Given the description of an element on the screen output the (x, y) to click on. 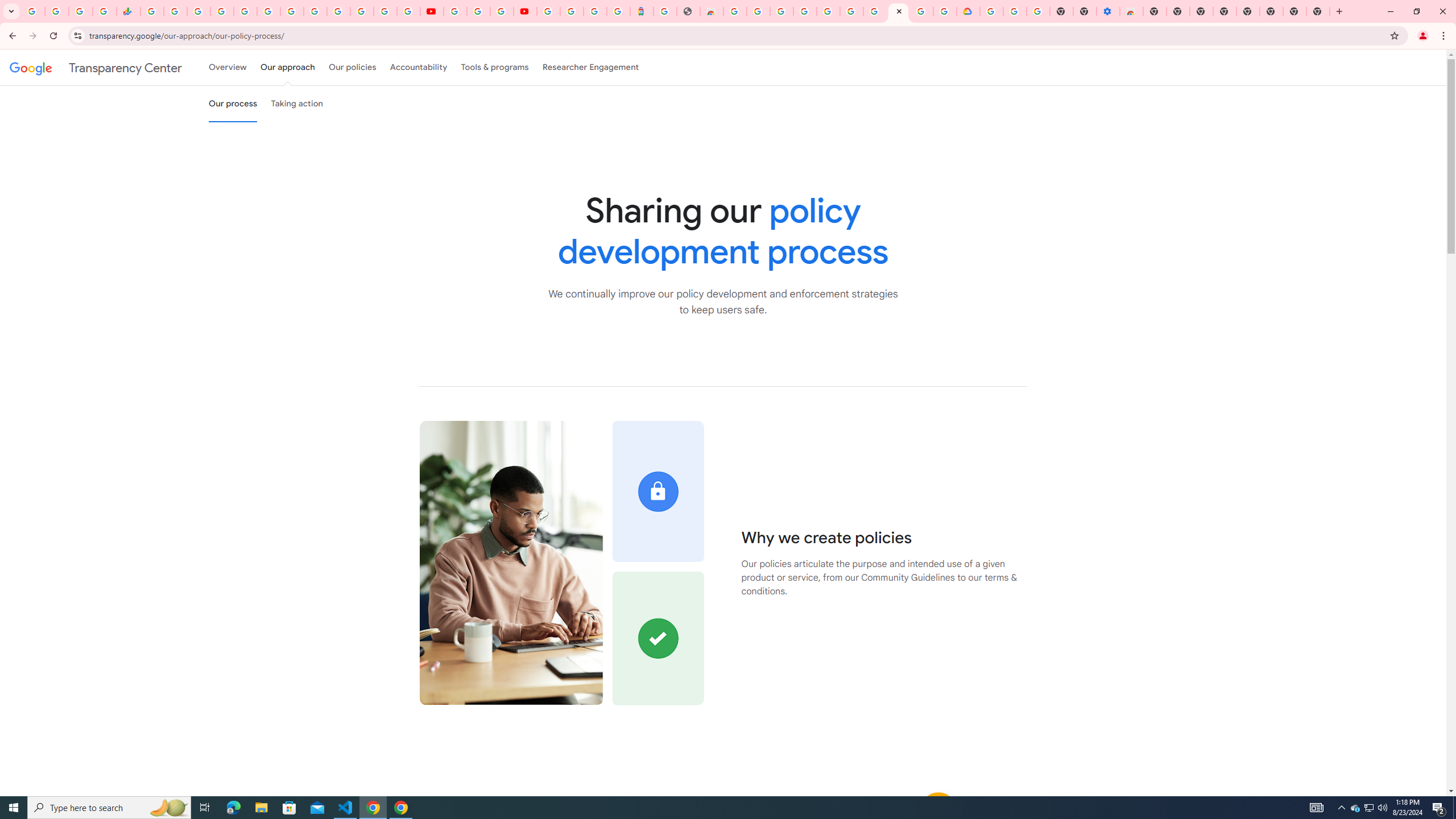
Create your Google Account (501, 11)
Settings - Accessibility (1108, 11)
YouTube (314, 11)
Browse the Google Chrome Community - Google Chrome Community (945, 11)
Chrome Web Store - Accessibility extensions (1131, 11)
